Given the description of an element on the screen output the (x, y) to click on. 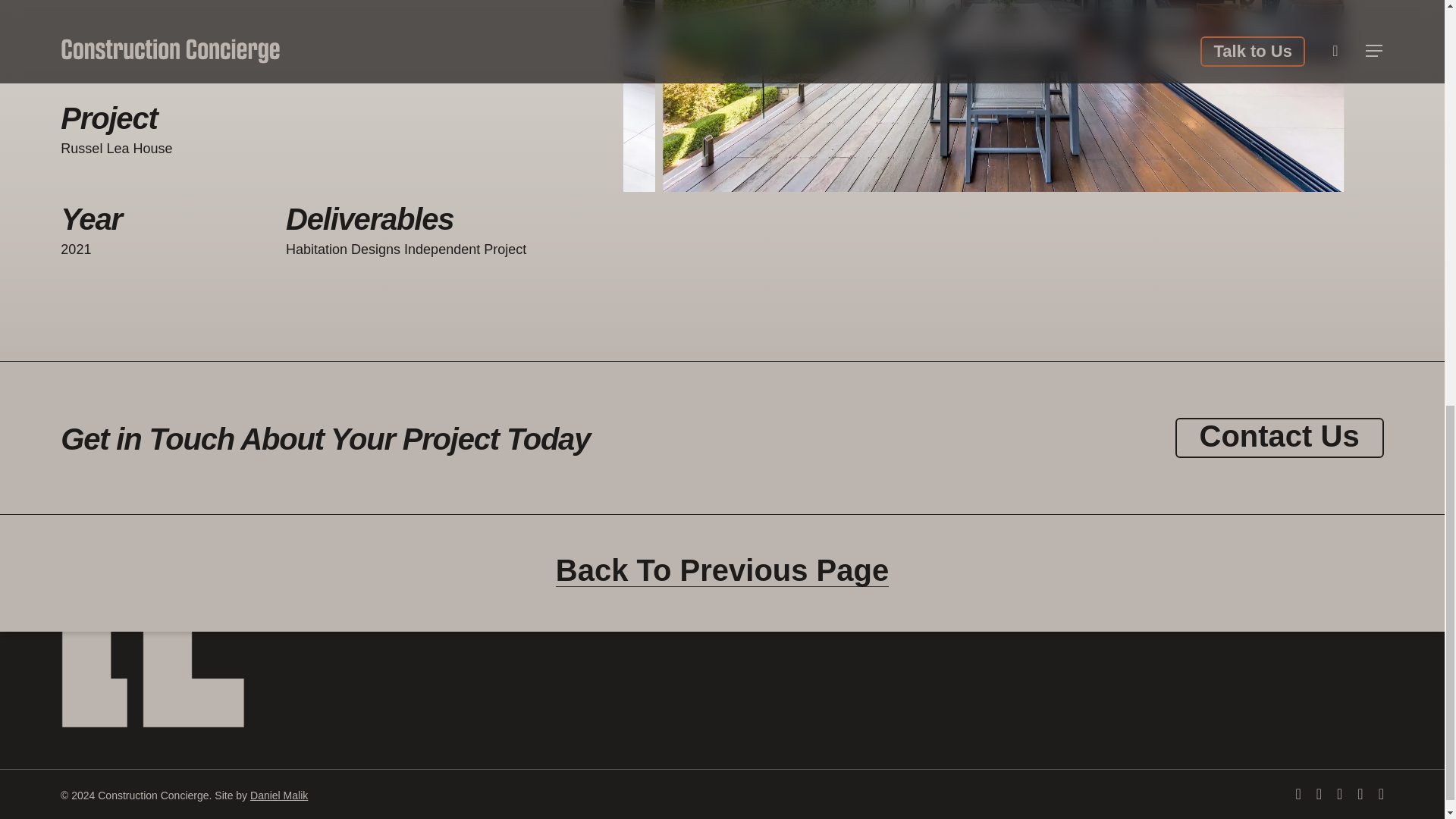
Contact Us (1279, 435)
Back To Previous Page (722, 570)
